Given the description of an element on the screen output the (x, y) to click on. 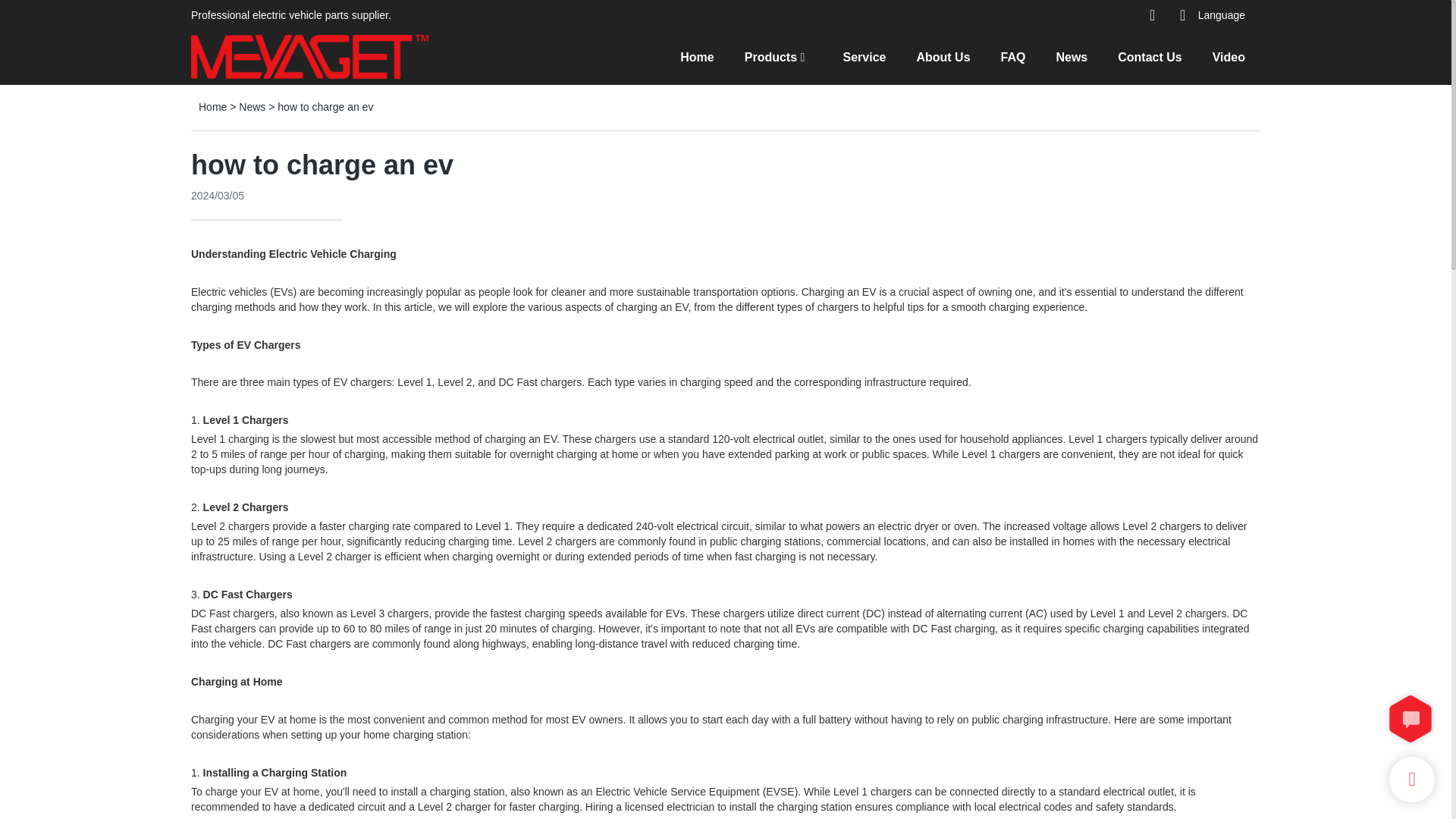
Service (864, 56)
Contact Us (1149, 56)
About Us (942, 56)
Home (696, 56)
Home (212, 106)
how to charge an ev (325, 106)
News (1071, 56)
FAQ (1013, 56)
Video (1228, 56)
Products (770, 56)
News (251, 106)
